Given the description of an element on the screen output the (x, y) to click on. 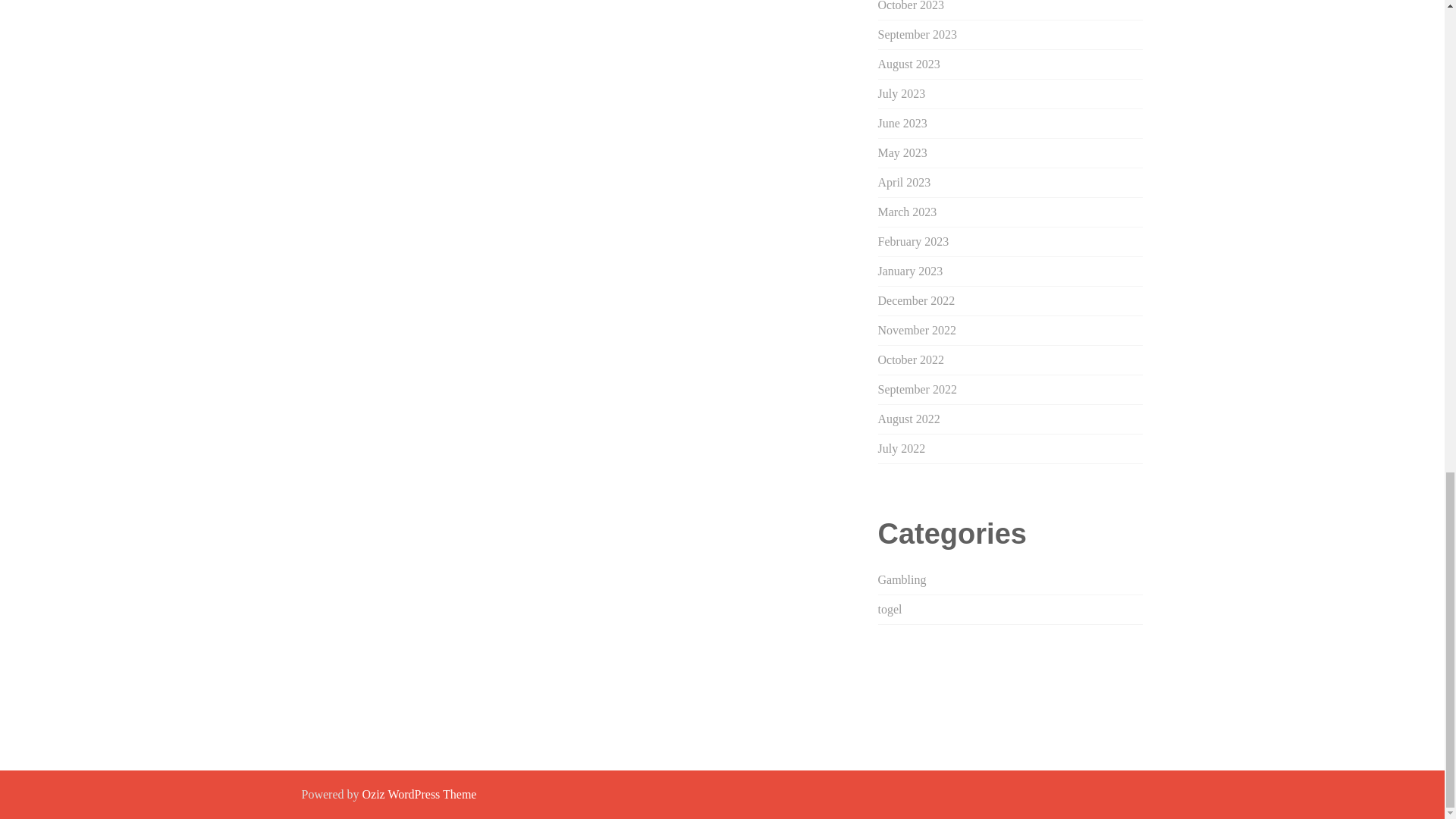
January 2023 (910, 270)
September 2022 (916, 389)
September 2023 (916, 33)
April 2023 (904, 182)
October 2022 (910, 359)
October 2023 (910, 5)
August 2022 (908, 418)
July 2023 (901, 92)
August 2023 (908, 63)
June 2023 (902, 123)
